Given the description of an element on the screen output the (x, y) to click on. 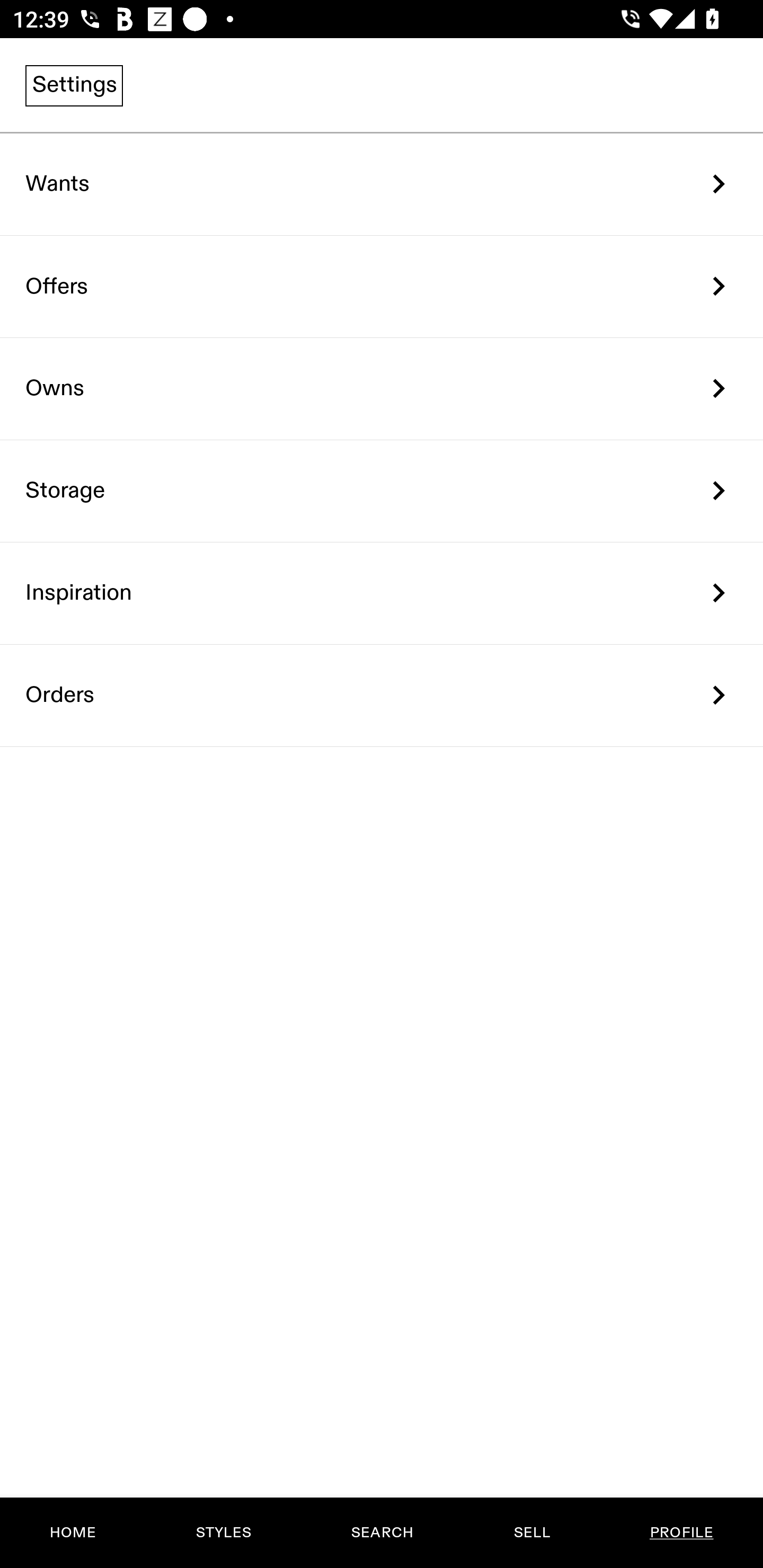
Settings (73, 85)
Wants (381, 184)
Offers (381, 286)
Owns (381, 388)
Storage (381, 491)
Inspiration (381, 593)
Orders (381, 695)
HOME (72, 1532)
STYLES (222, 1532)
SEARCH (381, 1532)
SELL (531, 1532)
PROFILE (681, 1532)
